Given the description of an element on the screen output the (x, y) to click on. 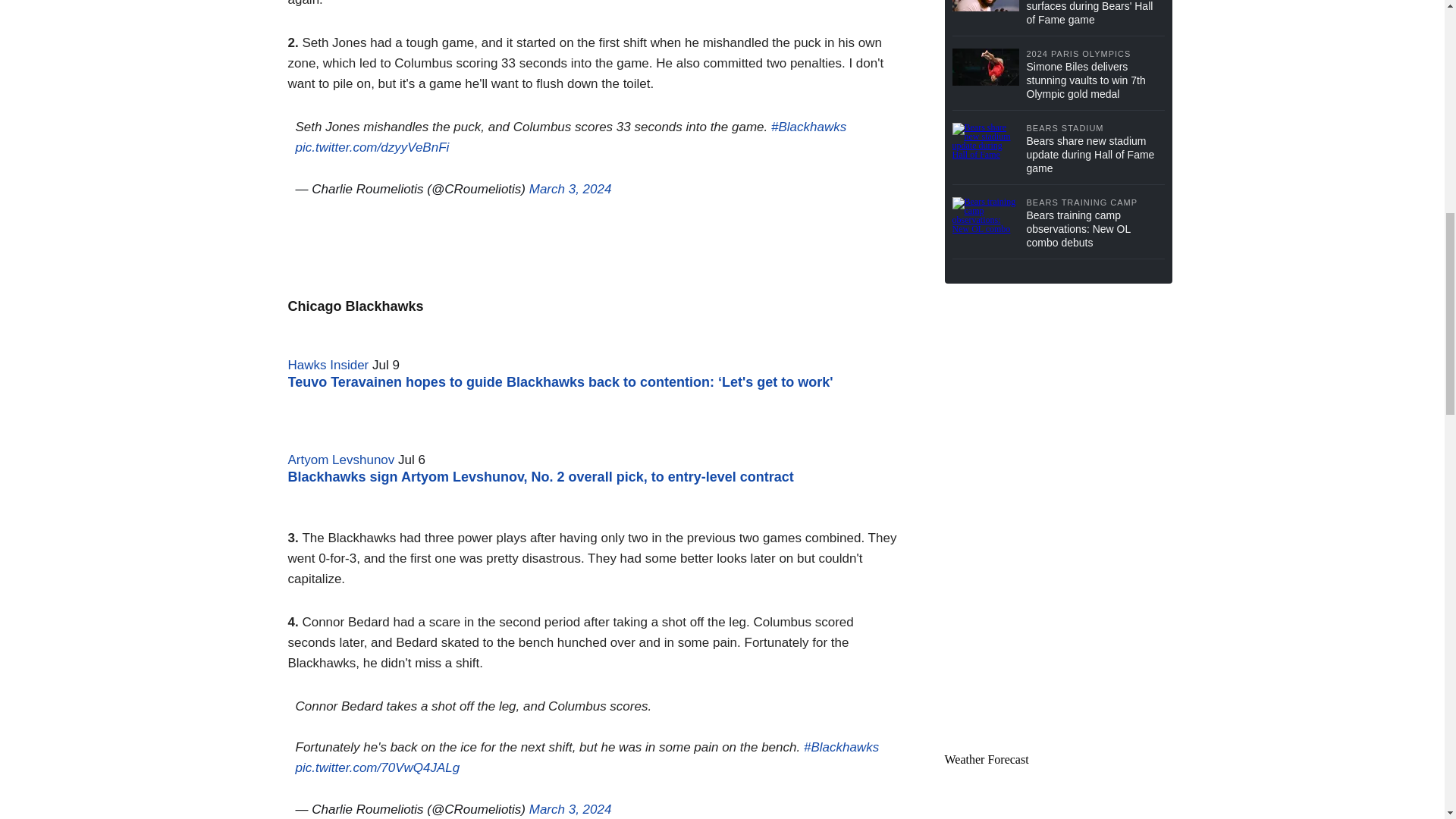
Hawks Insider (328, 364)
Artyom Levshunov (341, 459)
March 3, 2024 (570, 188)
March 3, 2024 (570, 809)
